Given the description of an element on the screen output the (x, y) to click on. 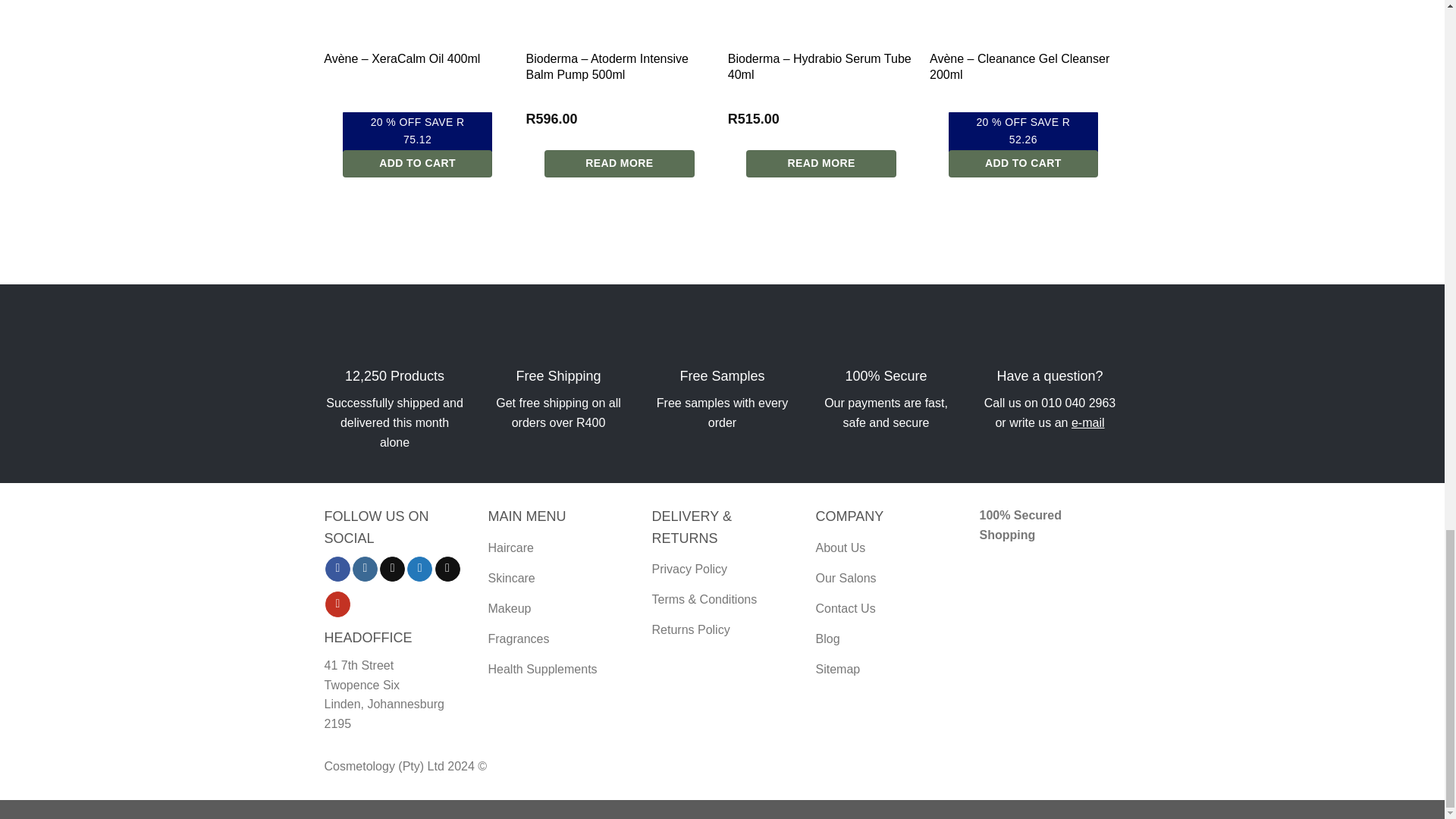
Send us an email (447, 569)
Follow on Facebook (337, 569)
Follow on YouTube (337, 604)
Follow on Instagram (364, 569)
Follow on TikTok (392, 569)
Follow on Twitter (419, 569)
